Given the description of an element on the screen output the (x, y) to click on. 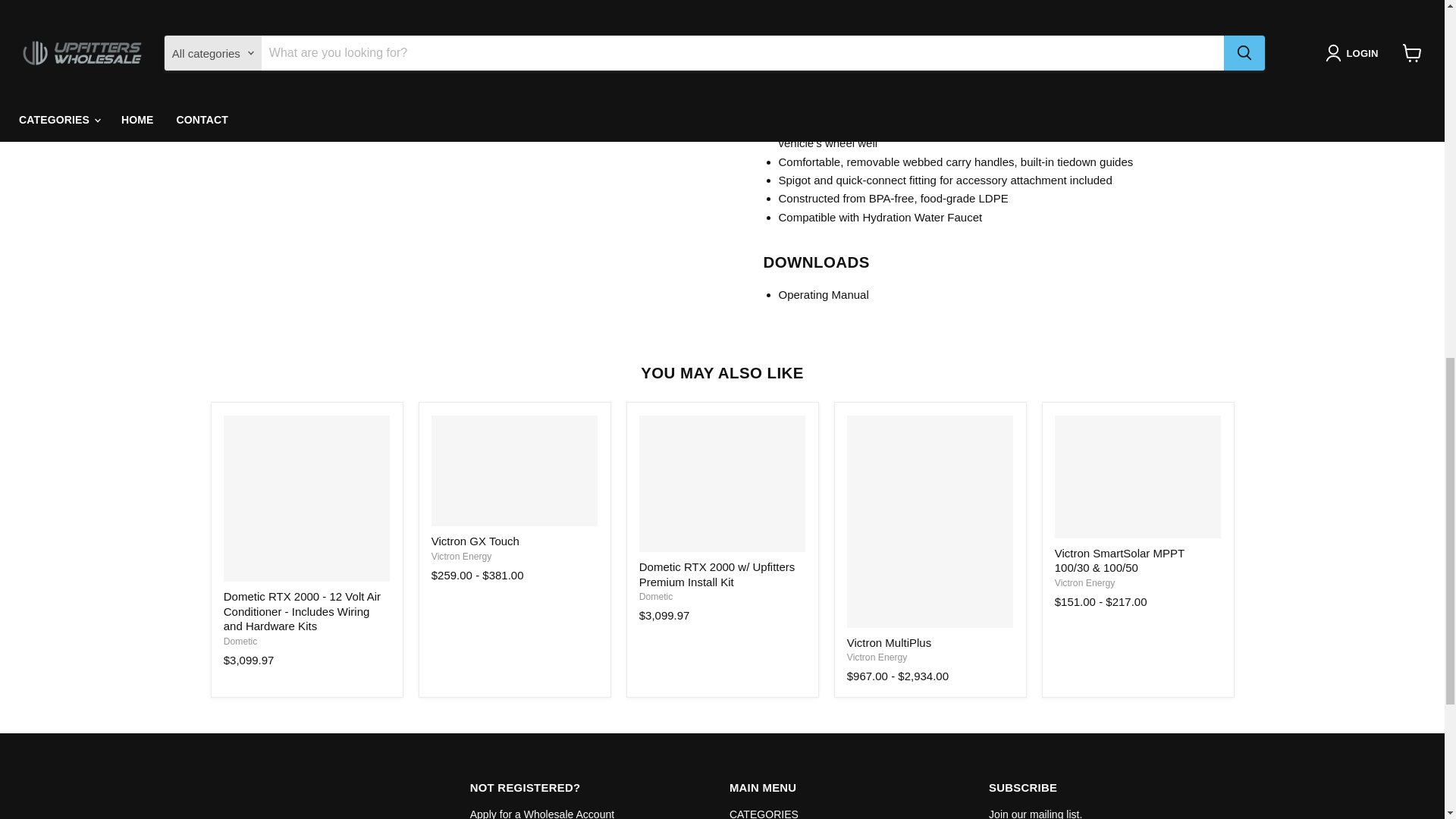
Dometic (240, 641)
Victron Energy (877, 656)
Victron Energy (461, 556)
Dometic (655, 596)
Victron Energy (1084, 583)
Dometic HYD-J11 Operating Manual (822, 294)
